Given the description of an element on the screen output the (x, y) to click on. 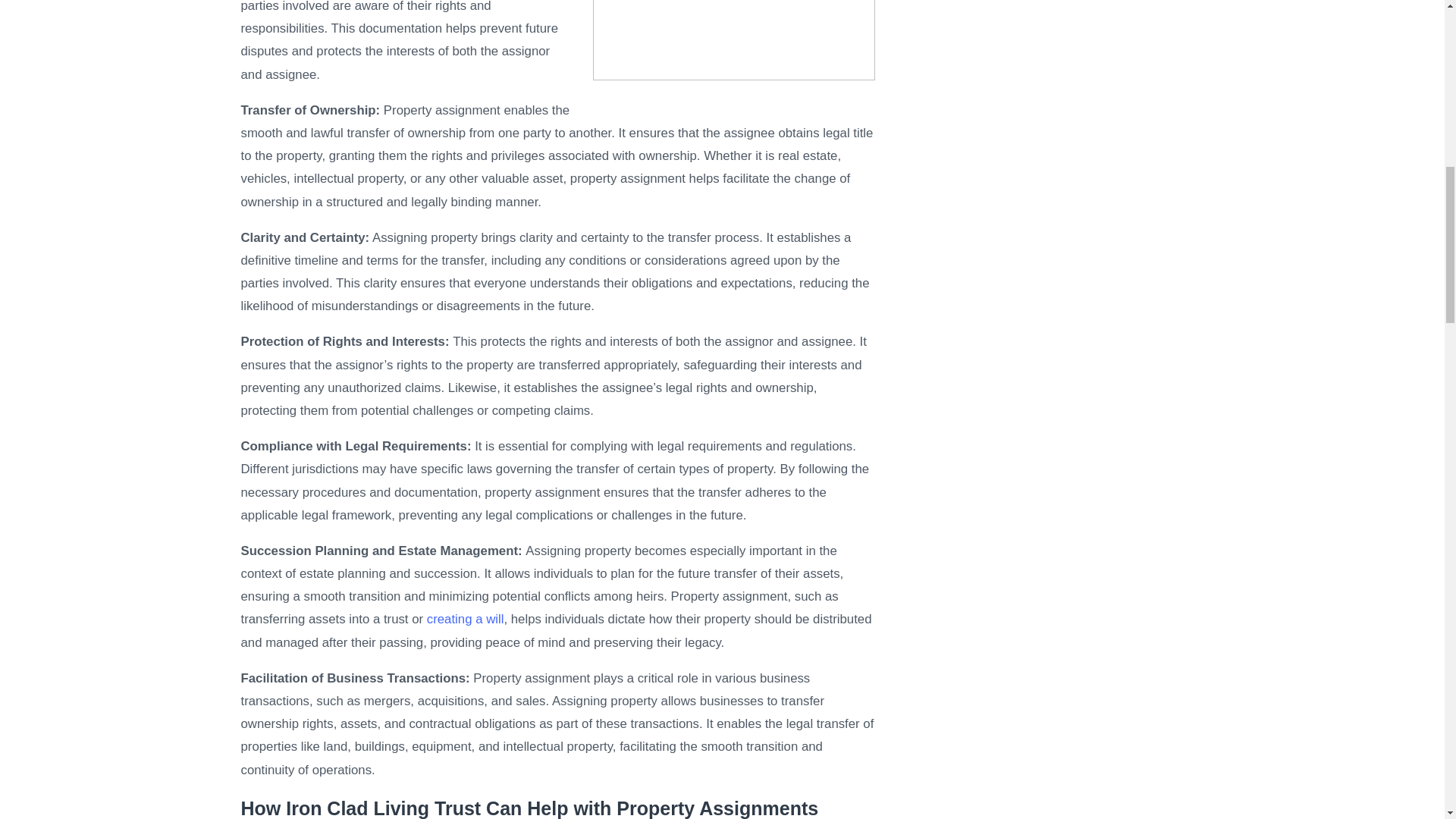
creating a will (464, 618)
